Given the description of an element on the screen output the (x, y) to click on. 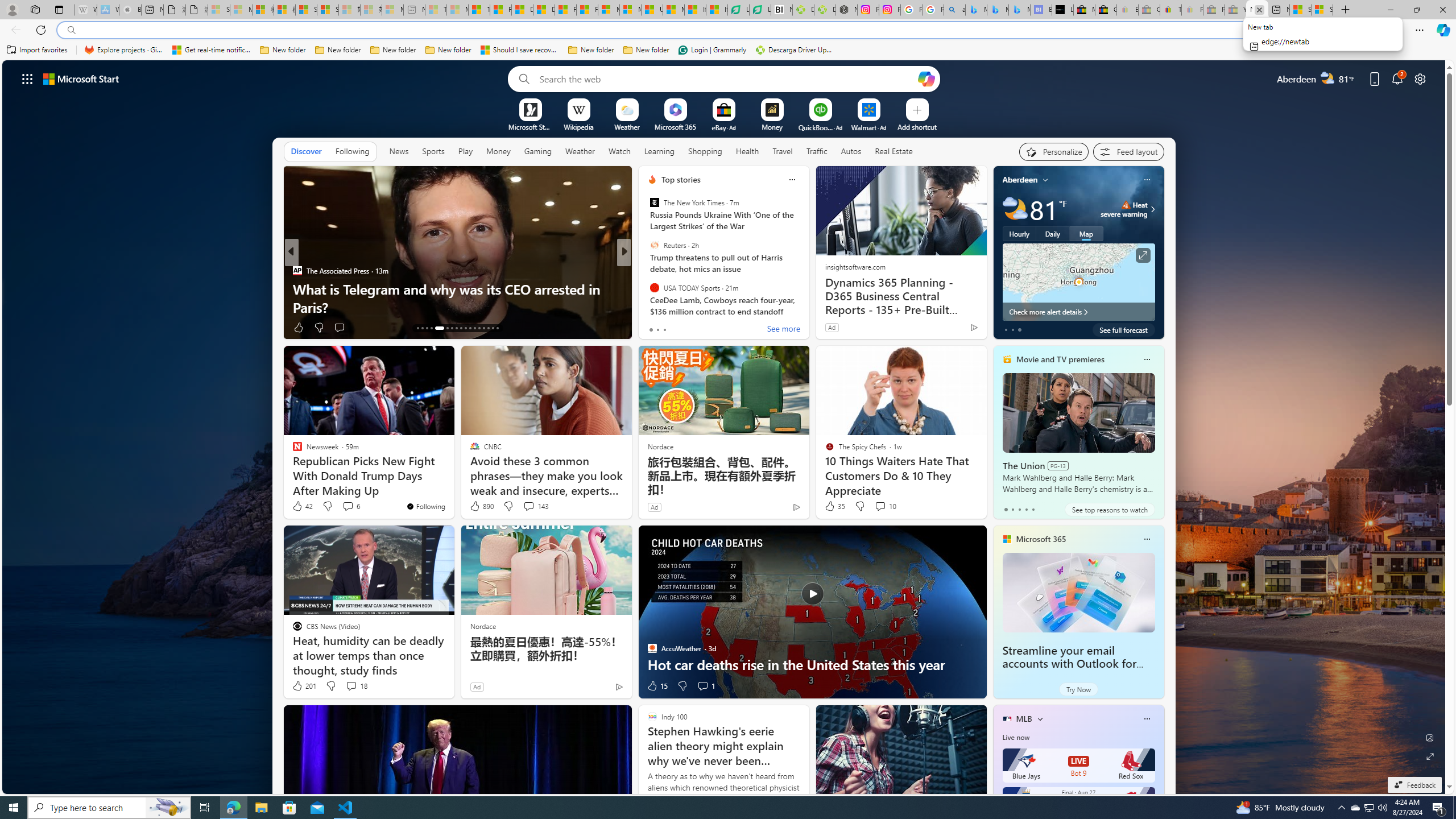
115 Like (654, 327)
Top stories (680, 179)
View comments 8 Comment (698, 327)
Start the conversation (694, 327)
Open Copilot (925, 78)
Microsoft start (81, 78)
AutomationID: tab-19 (451, 328)
Streamline your email accounts with Outlook for Windows (1077, 592)
View comments 3 Comment (705, 327)
Microsoft Bing Travel - Flights from Hong Kong to Bangkok (975, 9)
Reuters (654, 245)
Learning (659, 151)
